Given the description of an element on the screen output the (x, y) to click on. 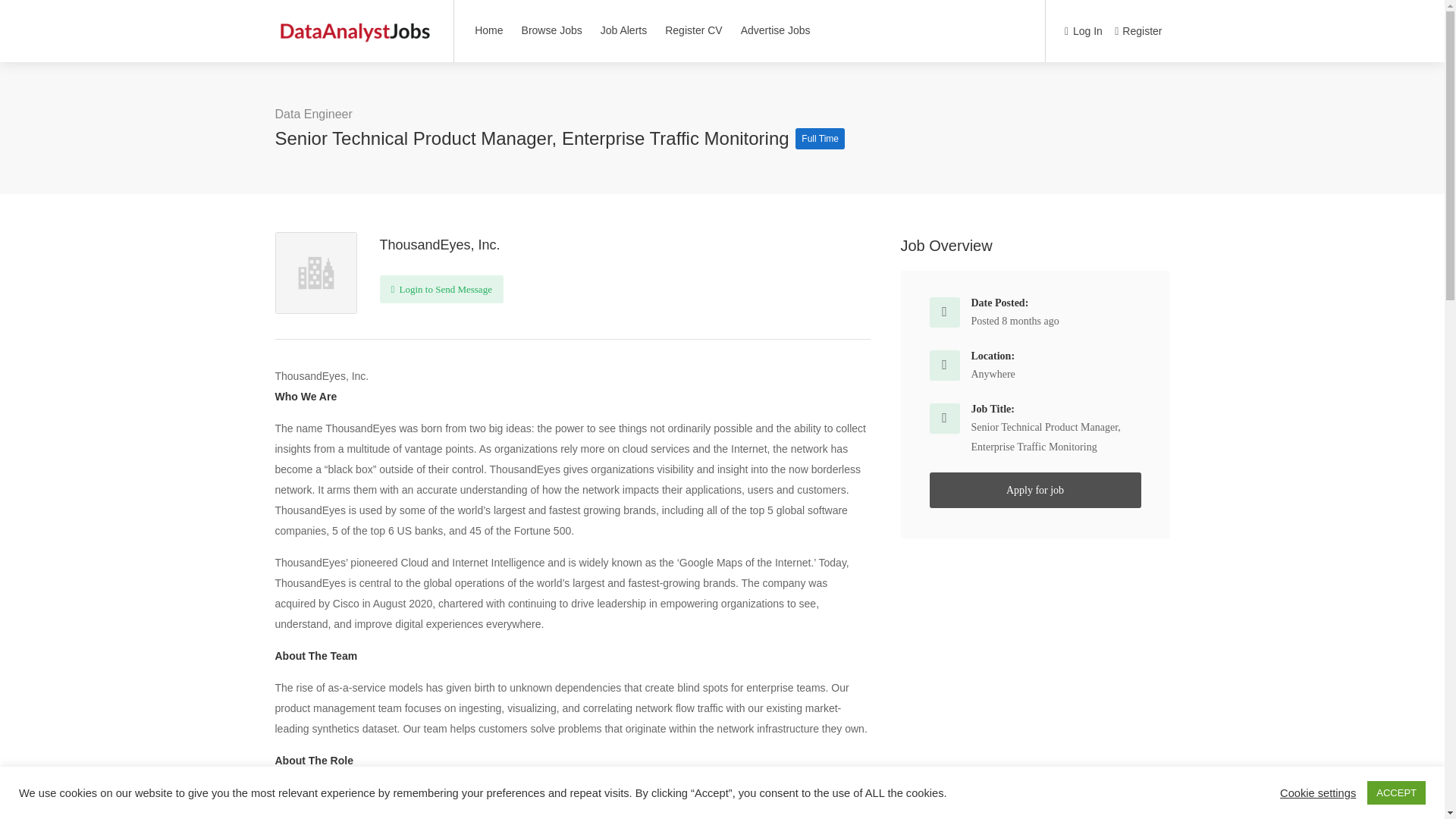
Data Analyst Jobs (354, 22)
Browse Jobs (552, 30)
Job Alerts (623, 30)
Home (488, 30)
Register CV (693, 30)
Data Engineer (313, 113)
Apply for job (1035, 489)
Advertise Jobs (775, 30)
ThousandEyes, Inc. (438, 244)
Cookie settings (1317, 792)
